Given the description of an element on the screen output the (x, y) to click on. 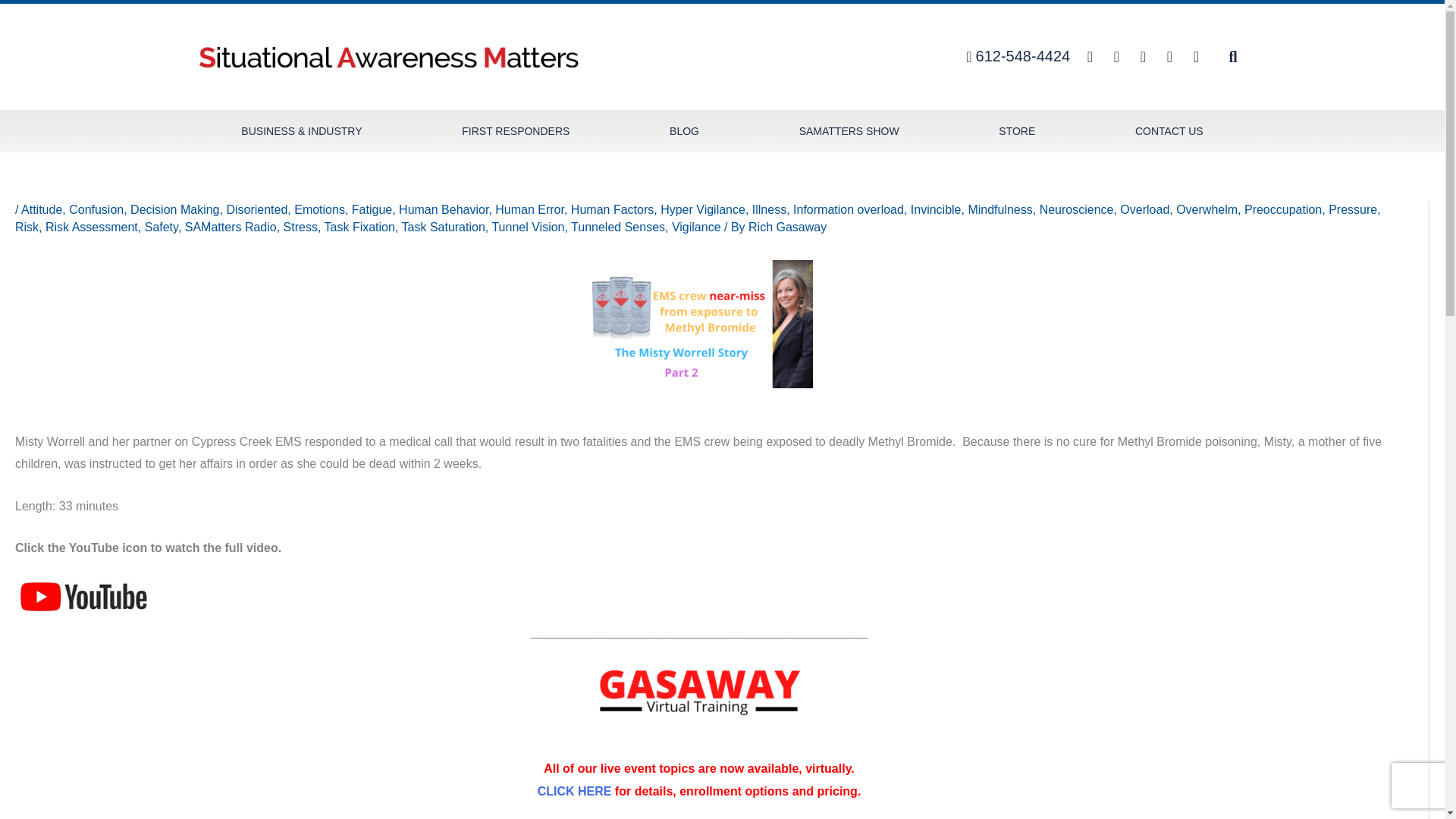
Decision Making (175, 209)
Confusion (95, 209)
Information overload (848, 209)
Fatigue (371, 209)
Invincible (935, 209)
Overwhelm (1206, 209)
Disoriented (255, 209)
View all posts by Rich Gasaway (787, 226)
CONTACT US (1168, 130)
Human Error (529, 209)
